Given the description of an element on the screen output the (x, y) to click on. 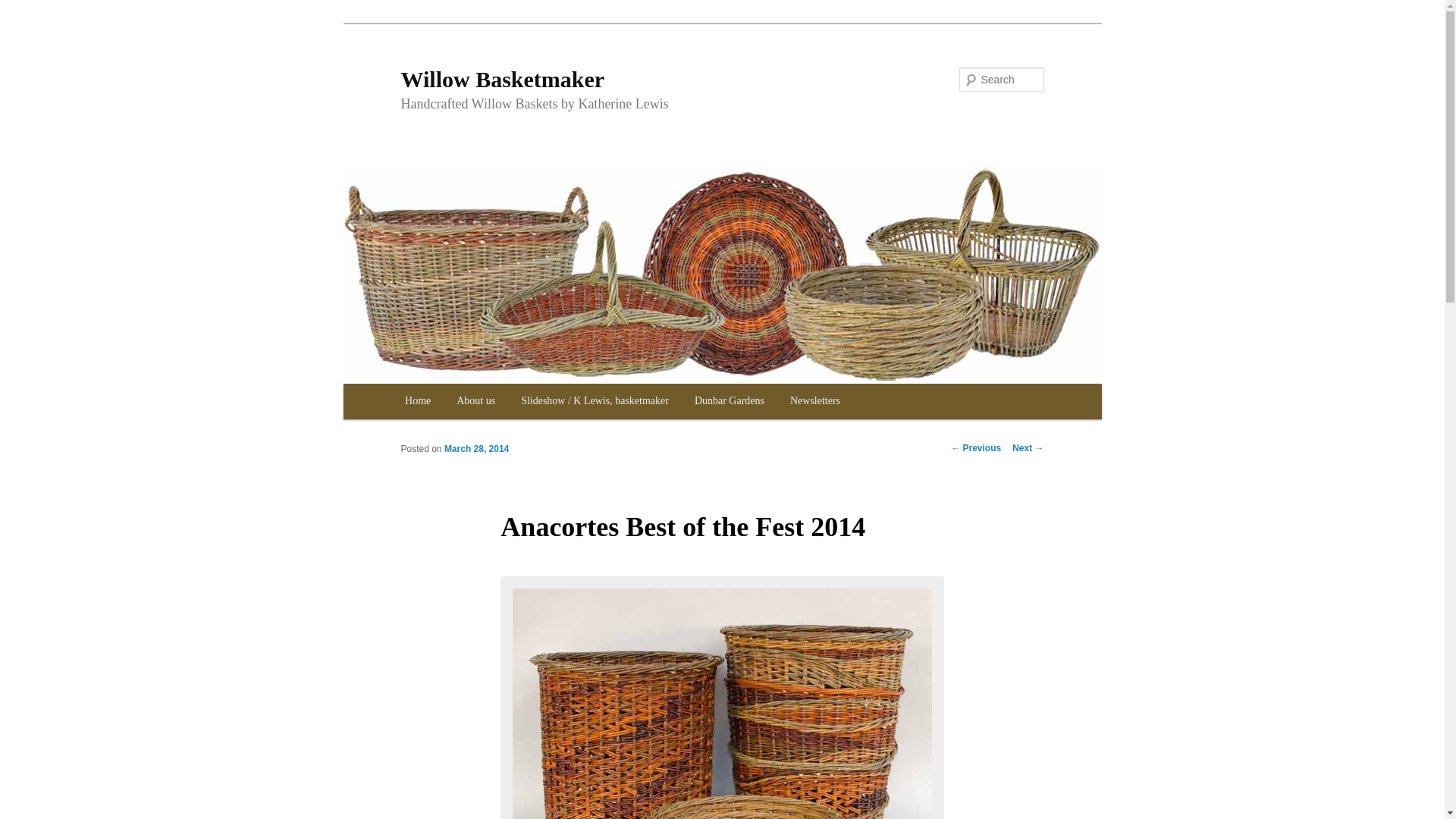
Search (24, 8)
Willow Basketmaker (502, 78)
website (729, 401)
12:05 pm (476, 448)
About us (476, 401)
Dunbar Gardens (729, 401)
Home (417, 401)
March 28, 2014 (476, 448)
